Given the description of an element on the screen output the (x, y) to click on. 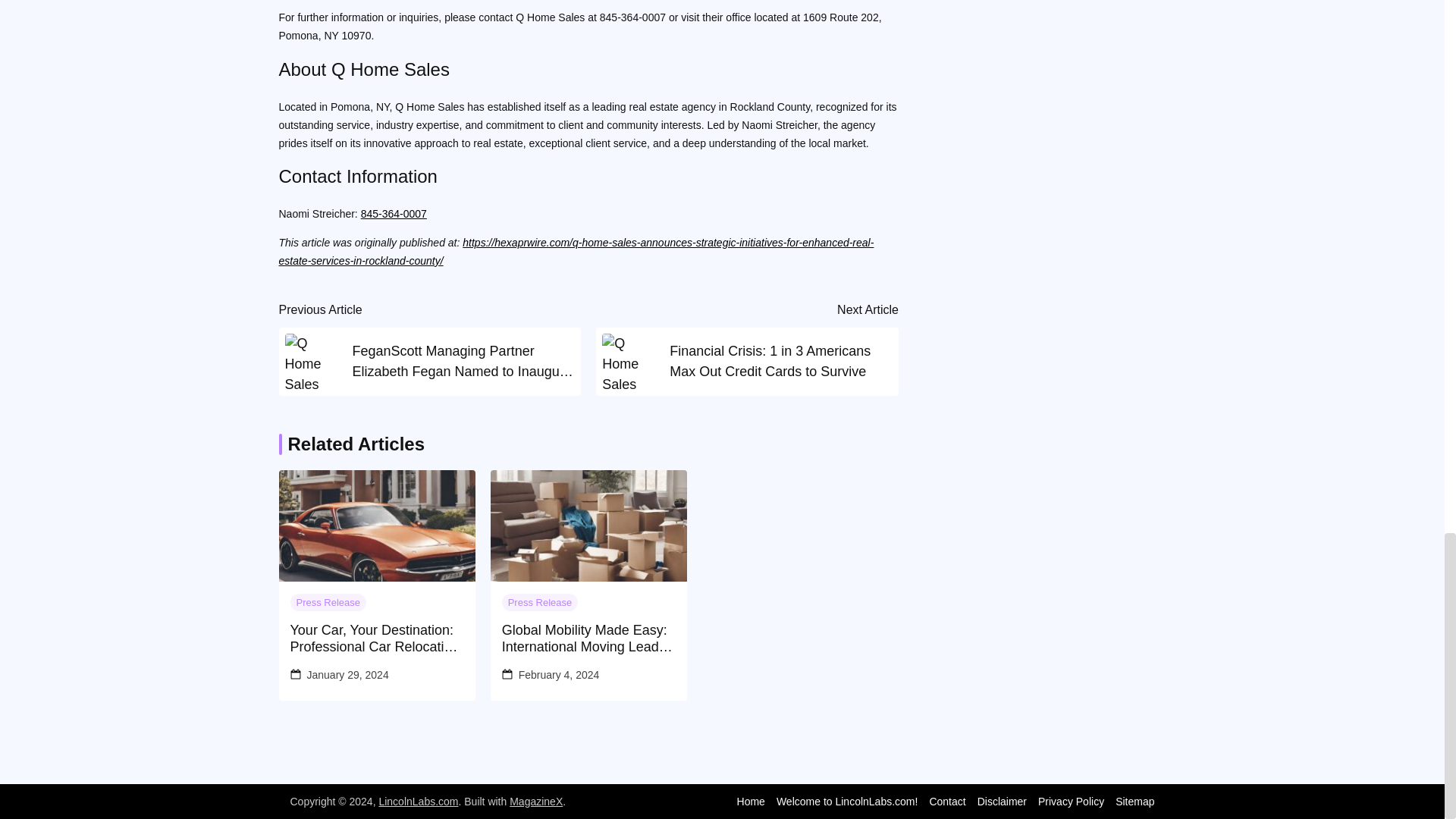
Press Release (540, 602)
LincolnLabs.com (418, 801)
January 29, 2024 (346, 675)
845-364-0007 (393, 214)
MagazineX (535, 801)
Press Release (327, 602)
February 4, 2024 (558, 675)
